Given the description of an element on the screen output the (x, y) to click on. 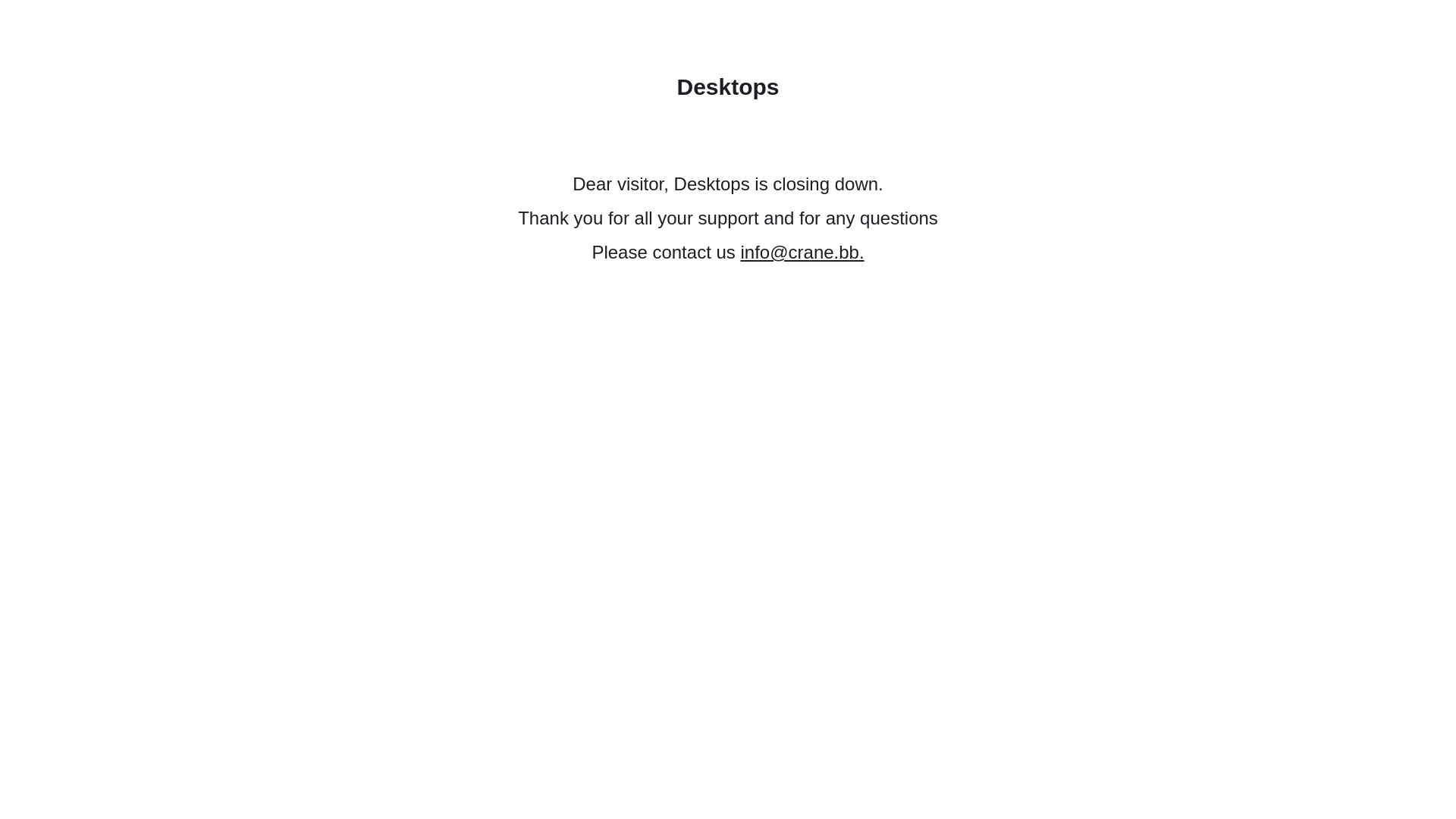
info@crane.bb. Element type: text (801, 251)
